Given the description of an element on the screen output the (x, y) to click on. 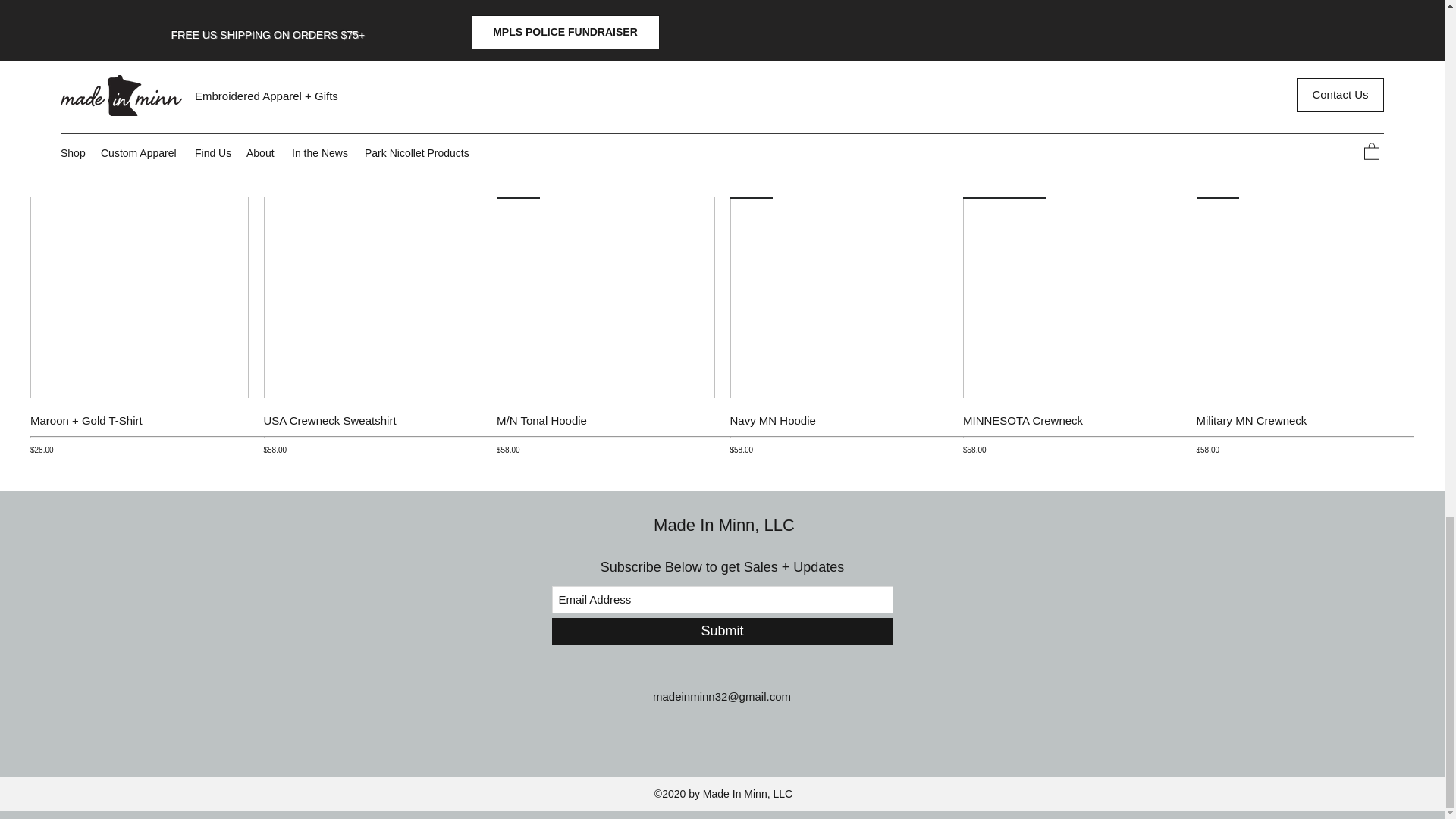
NEW (605, 289)
NEW (838, 289)
